Given the description of an element on the screen output the (x, y) to click on. 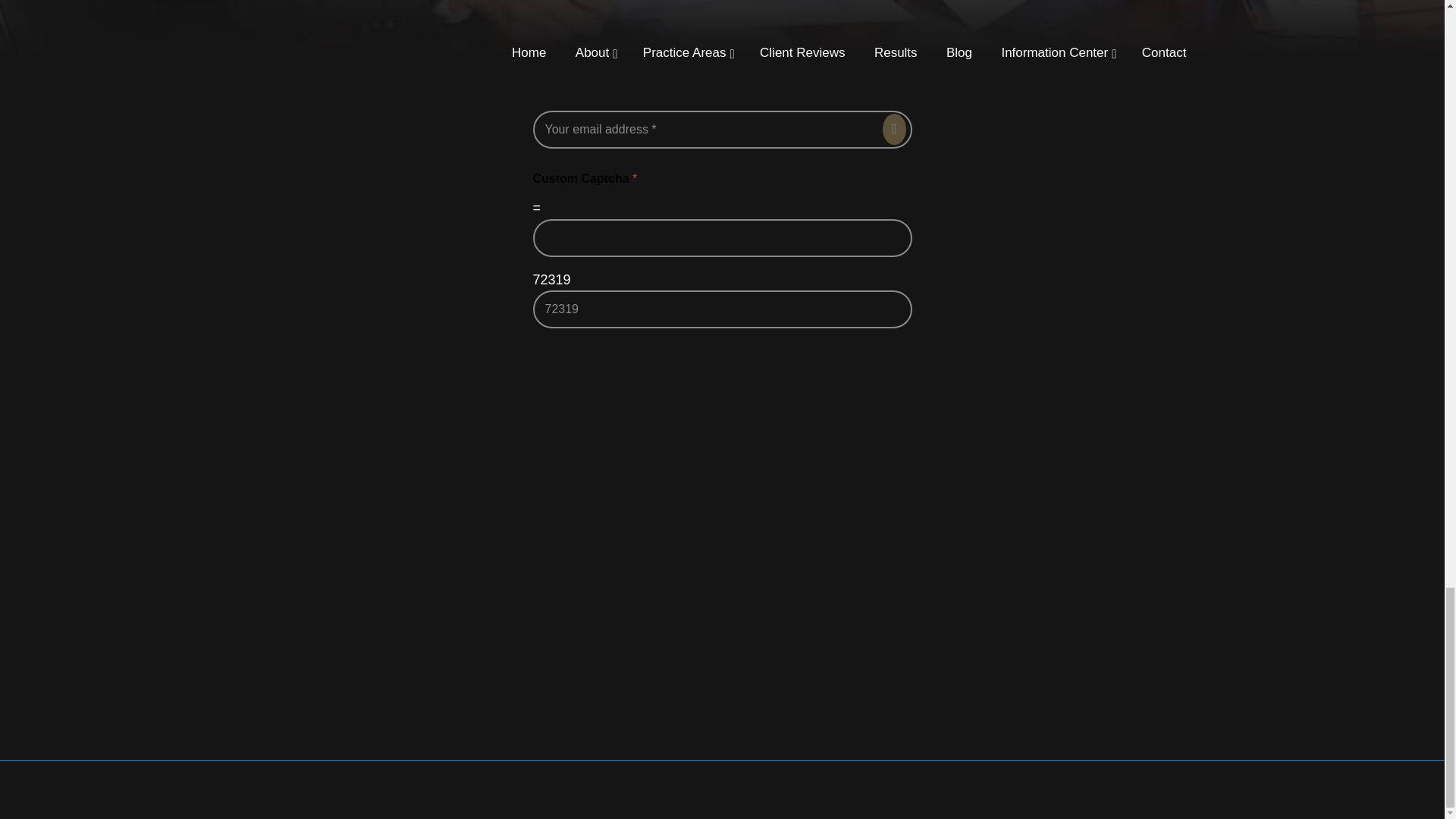
72319 (721, 309)
